Given the description of an element on the screen output the (x, y) to click on. 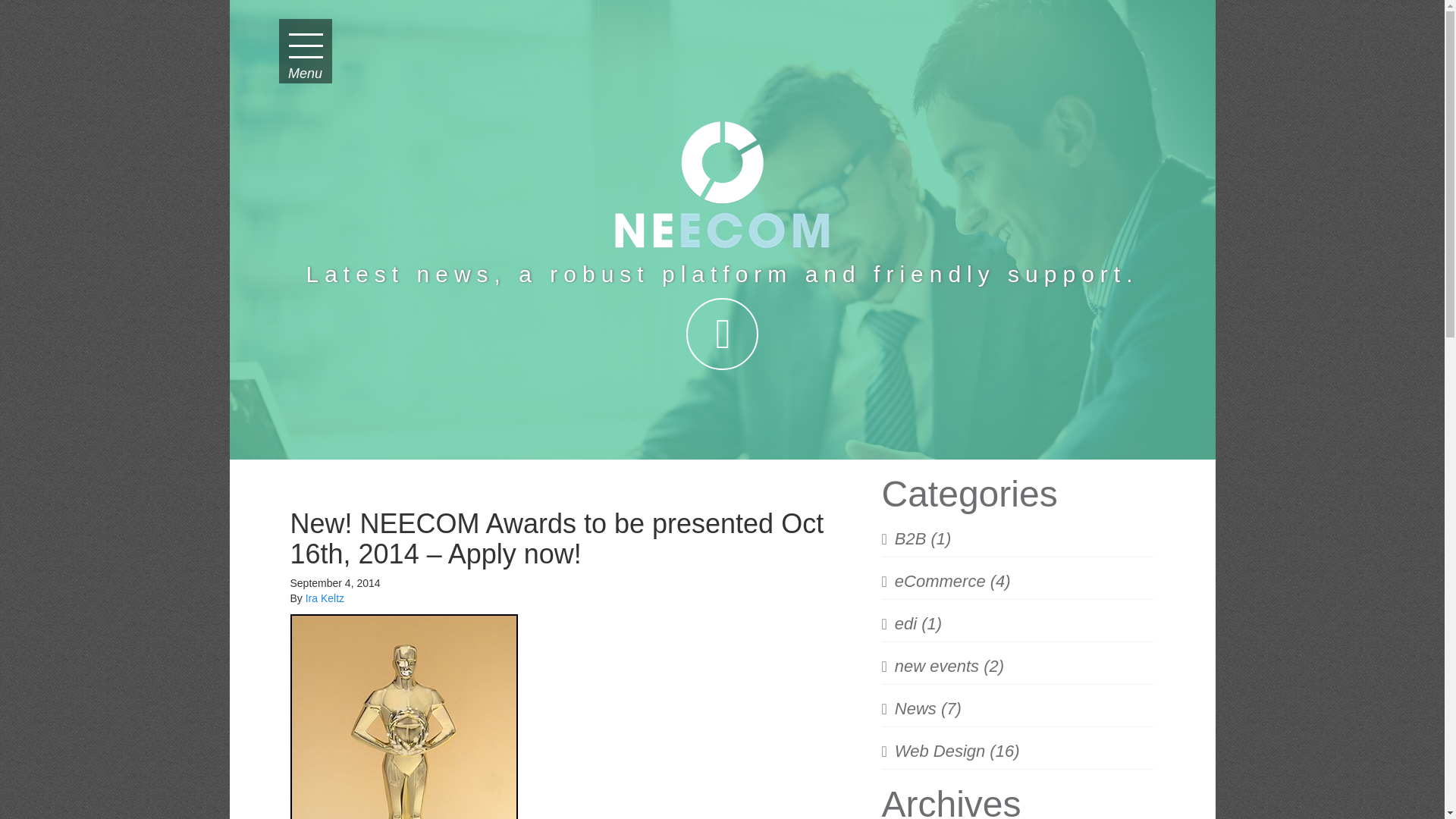
Ira Keltz (324, 598)
